Given the description of an element on the screen output the (x, y) to click on. 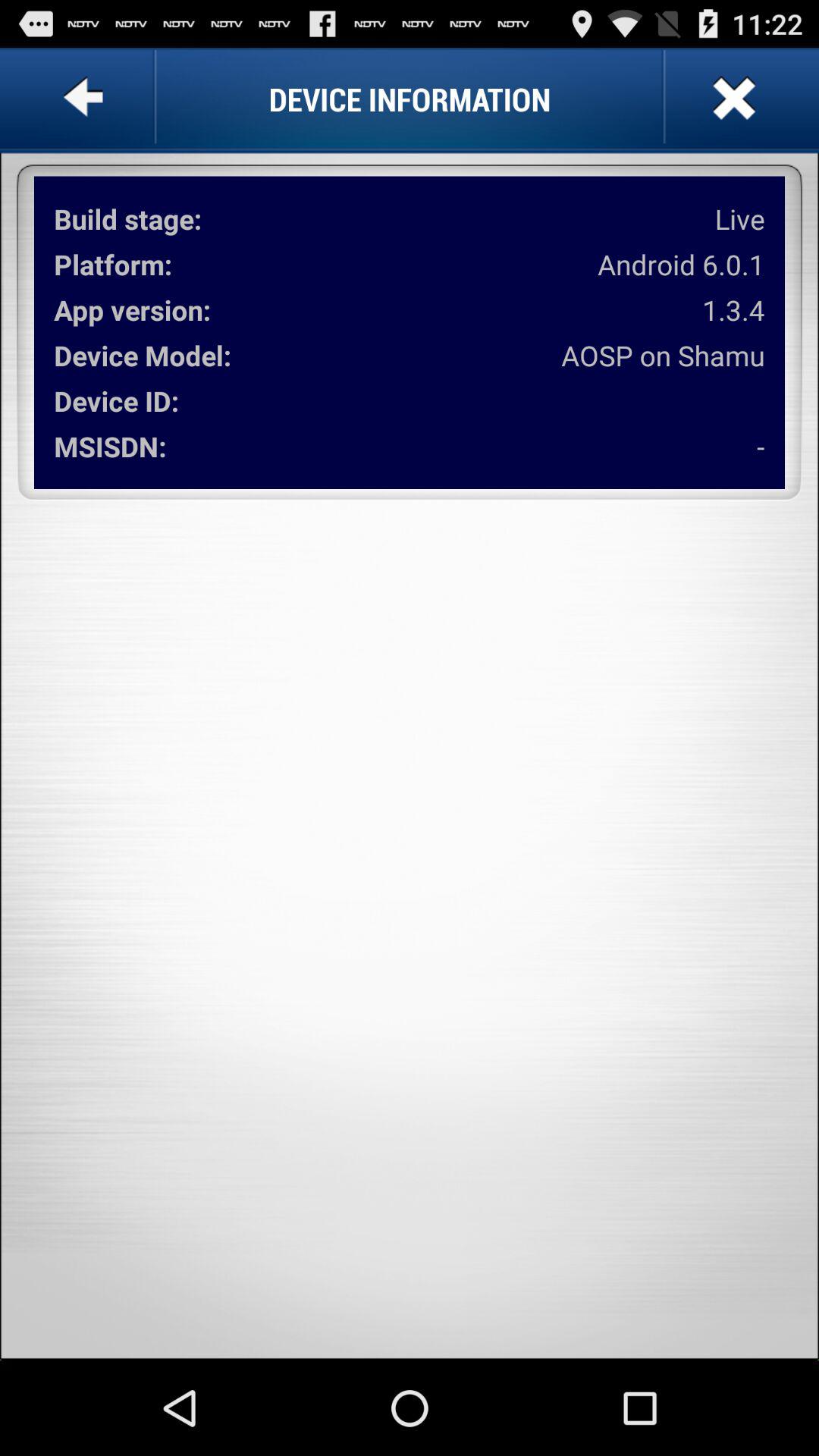
click item next to device information (86, 99)
